Given the description of an element on the screen output the (x, y) to click on. 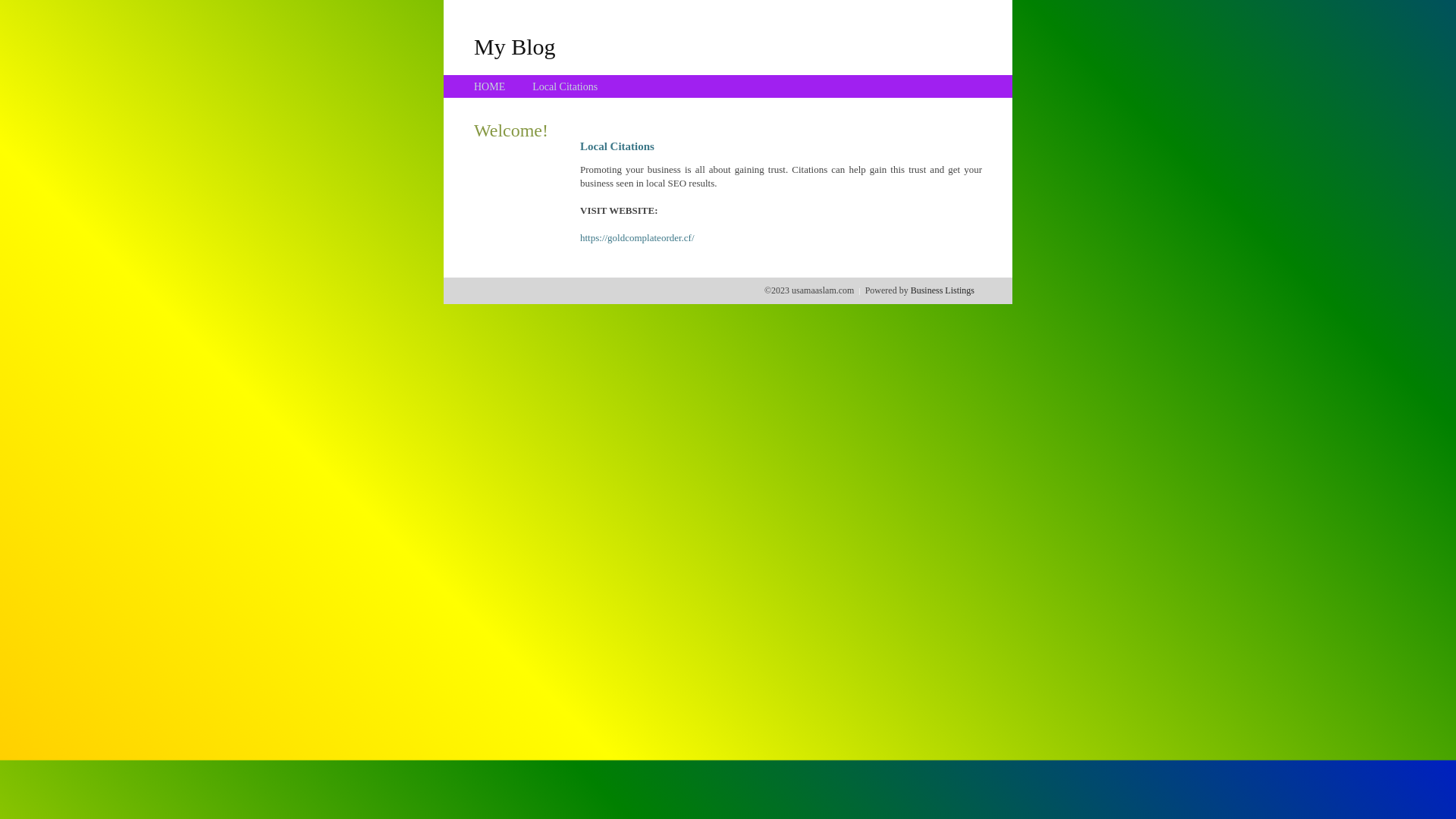
Local Citations Element type: text (564, 86)
Business Listings Element type: text (942, 290)
https://goldcomplateorder.cf/ Element type: text (637, 237)
HOME Element type: text (489, 86)
My Blog Element type: text (514, 46)
